Given the description of an element on the screen output the (x, y) to click on. 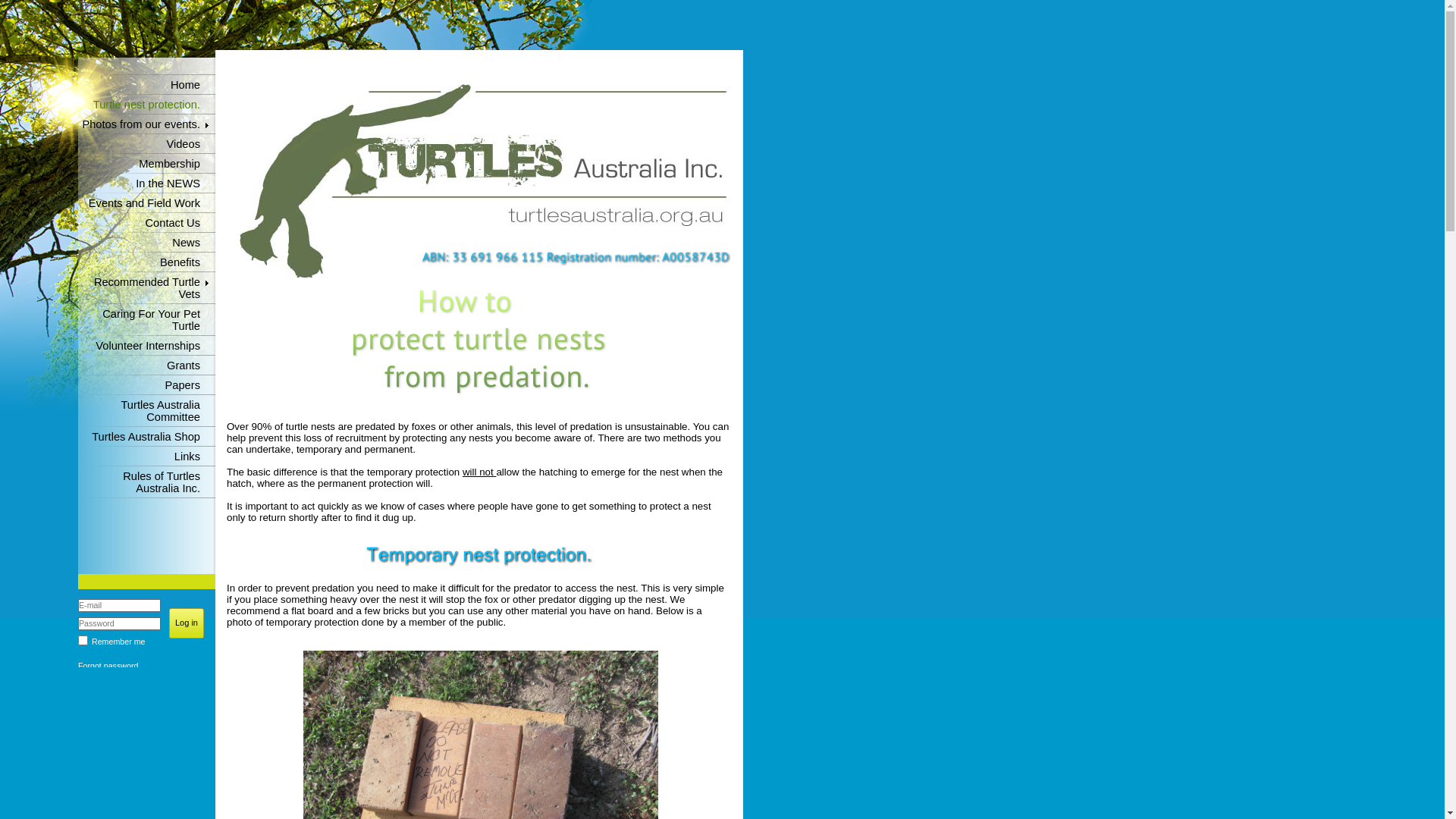
Caring For Your Pet Turtle Element type: text (146, 319)
Forgot password Element type: text (108, 665)
Links Element type: text (146, 456)
Videos Element type: text (146, 143)
Recommended Turtle Vets Element type: text (146, 288)
Papers Element type: text (146, 385)
Rules of Turtles Australia Inc. Element type: text (146, 482)
Log in Element type: text (186, 623)
Temporary nest protection. Element type: hover (479, 556)
Turtles Australia Committee Element type: text (146, 410)
Contact Us Element type: text (146, 222)
Benefits Element type: text (146, 262)
Photos from our events. Element type: text (146, 124)
Events and Field Work Element type: text (146, 203)
Membership Element type: text (146, 163)
News Element type: text (146, 242)
Turtles Australia Shop Element type: text (146, 436)
Home Element type: text (146, 84)
ABN: 33 691 966 115 Registration number: A0058743D Element type: hover (575, 258)
Volunteer Internships Element type: text (146, 345)
In the NEWS Element type: text (146, 183)
Grants Element type: text (146, 365)
How to
protect turtle nests
    from predation. Element type: hover (479, 341)
